Given the description of an element on the screen output the (x, y) to click on. 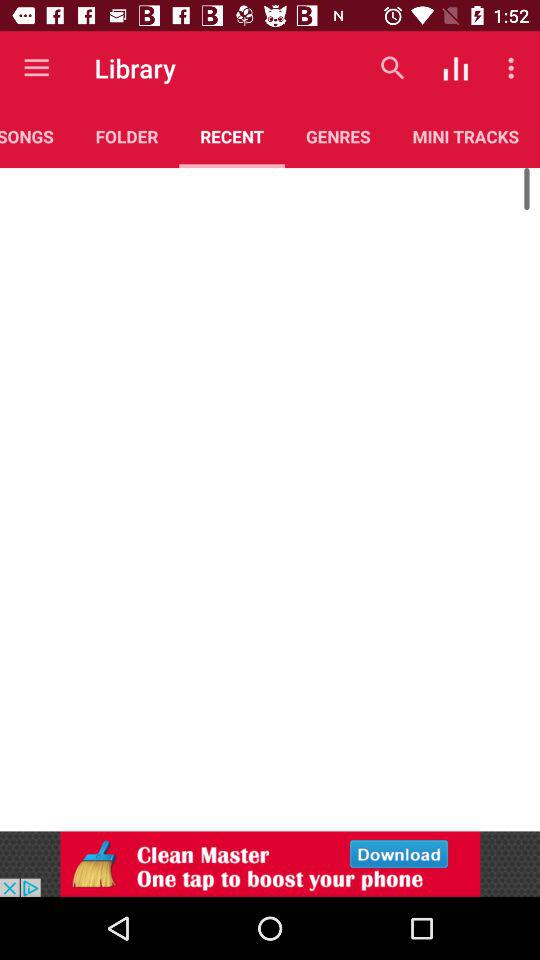
visit advertiser (270, 864)
